Given the description of an element on the screen output the (x, y) to click on. 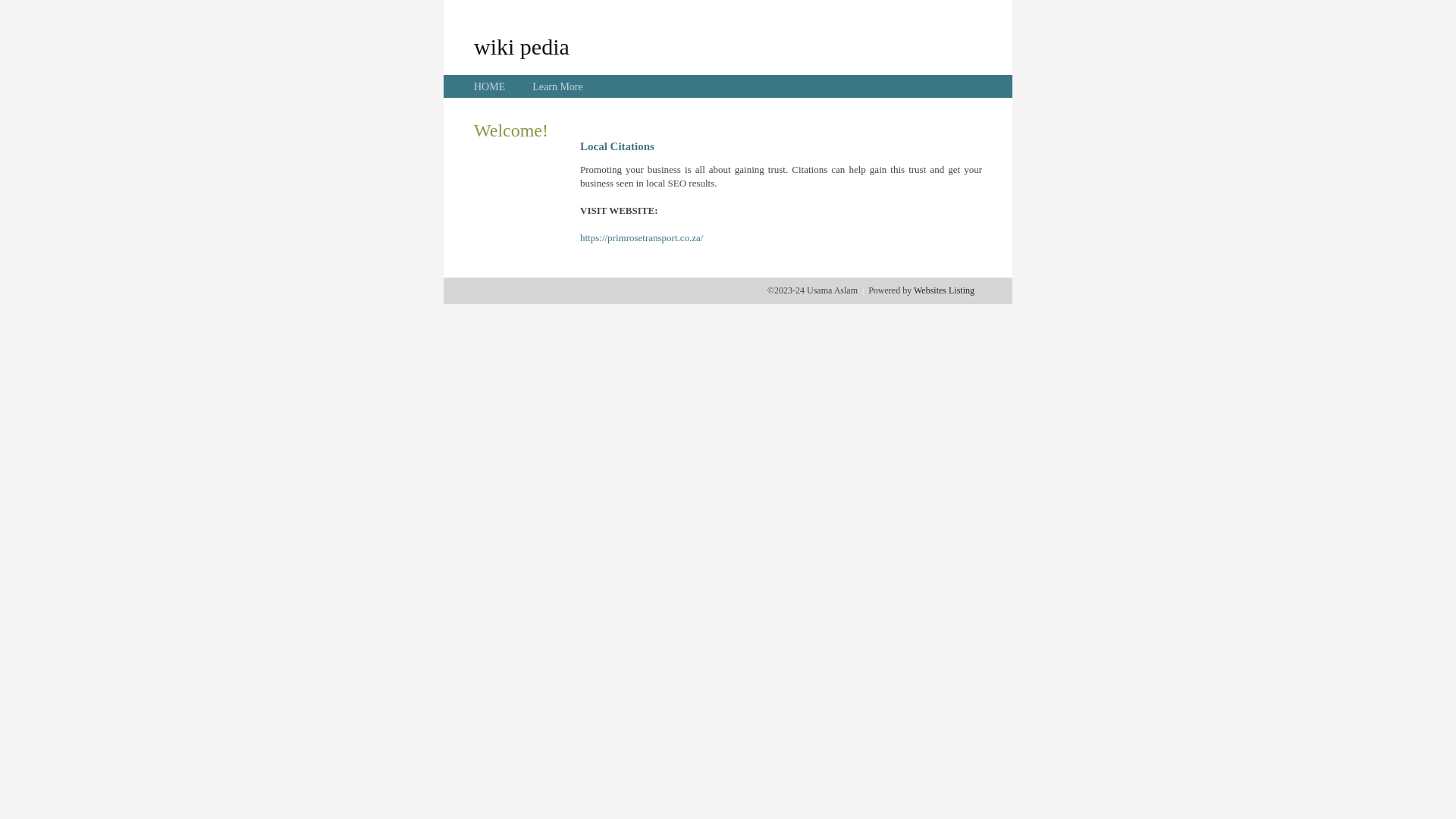
HOME Element type: text (489, 86)
Websites Listing Element type: text (943, 290)
https://primrosetransport.co.za/ Element type: text (641, 237)
Learn More Element type: text (557, 86)
wiki pedia Element type: text (521, 46)
